Given the description of an element on the screen output the (x, y) to click on. 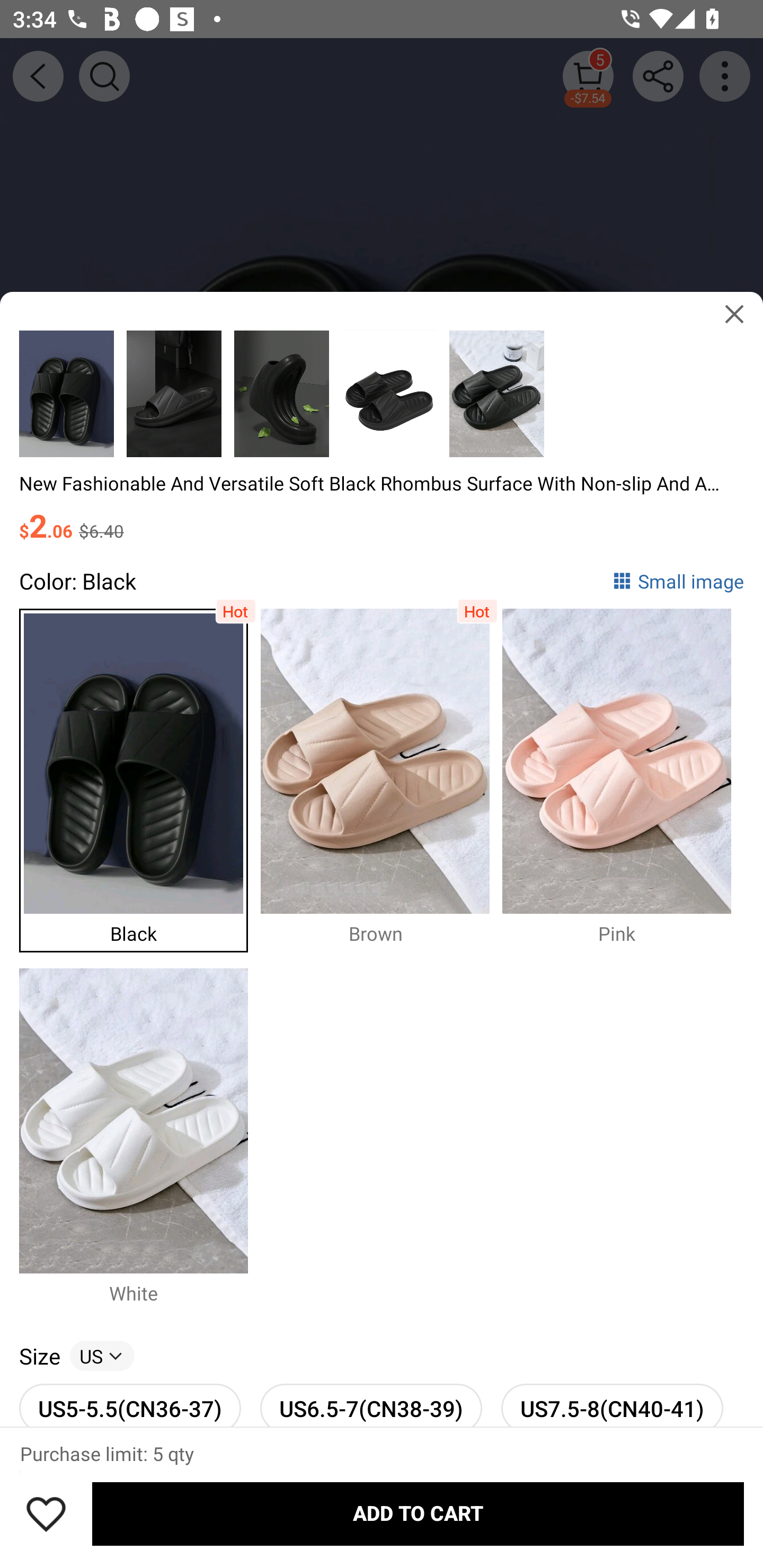
Color: Black (77, 580)
Small image (677, 580)
Black (139, 775)
Brown (381, 775)
Pink (622, 775)
White (139, 1135)
Size (39, 1355)
US (102, 1355)
US5-5.5(CN36-37) US5-5.5(CN36-37)unselected option (129, 1398)
US6.5-7(CN38-39) US6.5-7(CN38-39)unselected option (370, 1398)
US7.5-8(CN40-41) US7.5-8(CN40-41)unselected option (611, 1398)
ADD TO CART (417, 1513)
Save (46, 1513)
